Given the description of an element on the screen output the (x, y) to click on. 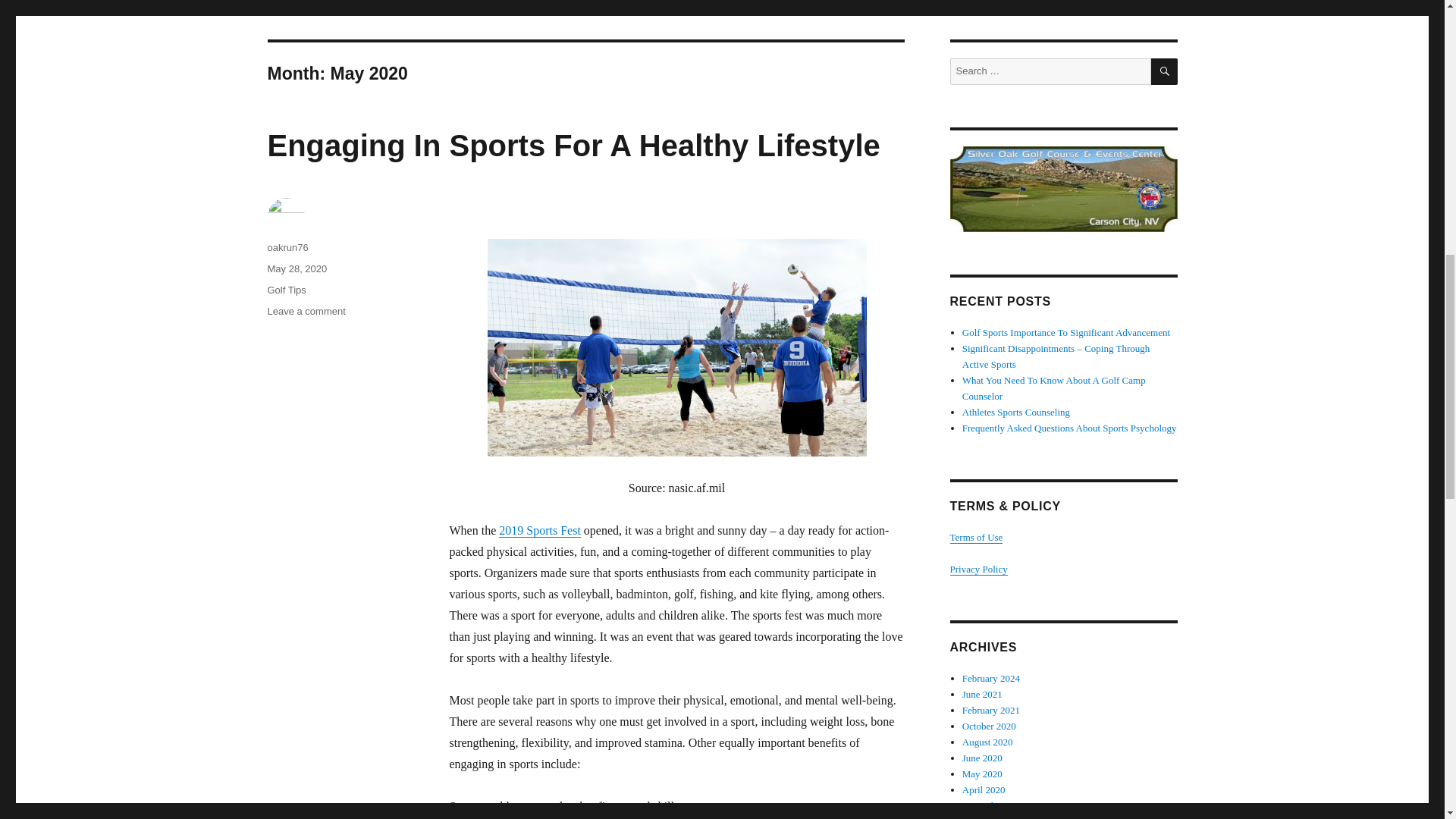
October 2019 (989, 817)
Frequently Asked Questions About Sports Psychology (1069, 428)
April 2020 (984, 789)
Golf Sports Importance To Significant Advancement (1066, 332)
SEARCH (1164, 71)
What You Need To Know About A Golf Camp Counselor (1053, 388)
November 2019 (994, 805)
February 2021 (991, 709)
February 2024 (991, 677)
August 2020 (987, 741)
May 2020 (982, 773)
October 2020 (989, 726)
June 2020 (982, 757)
2019 Sports Fest (539, 529)
Terms of Use (976, 536)
